Given the description of an element on the screen output the (x, y) to click on. 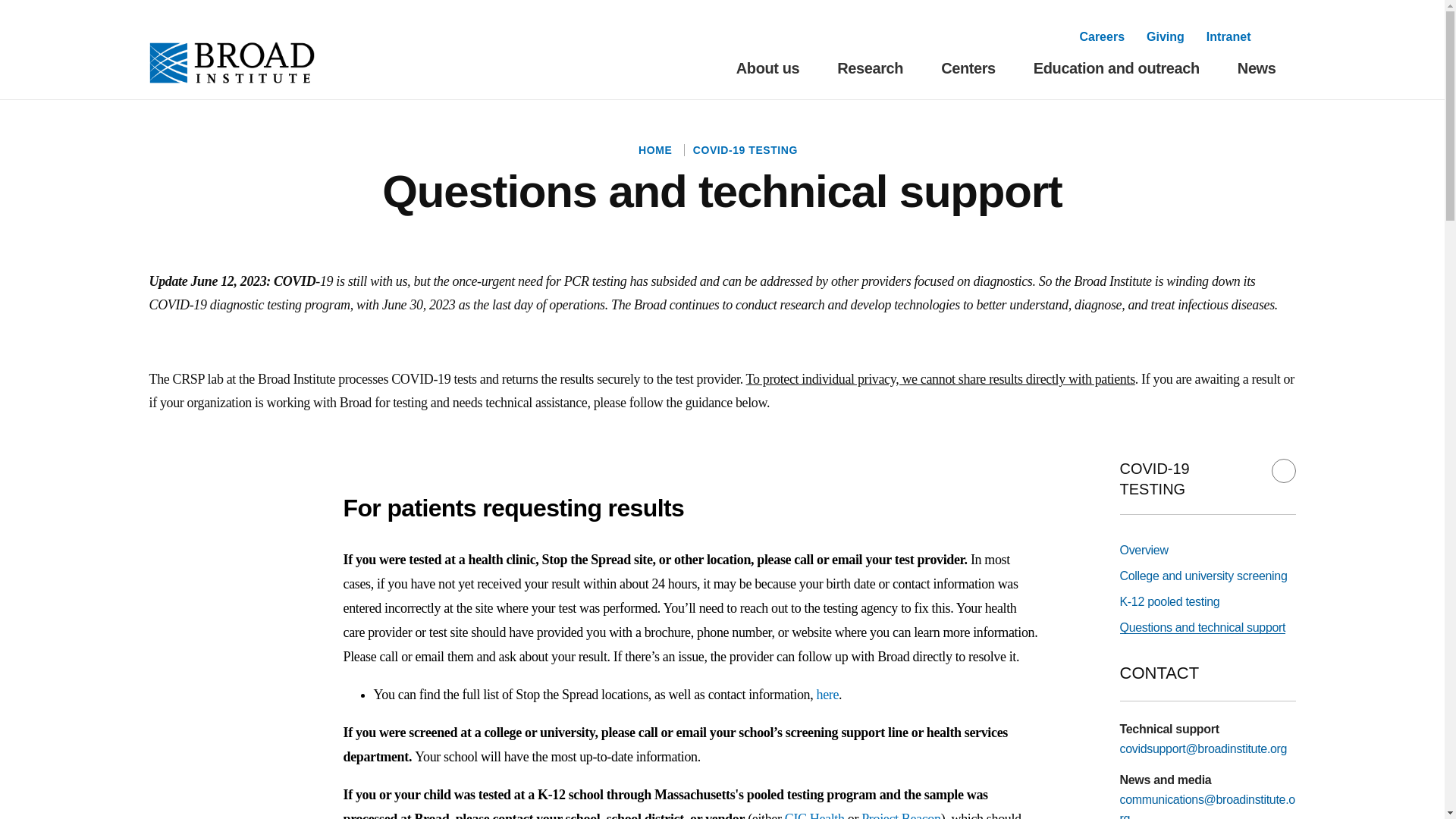
Broad Institute Intranet (1228, 36)
Giving (1166, 36)
Careers (1101, 36)
Intranet (1228, 36)
